Given the description of an element on the screen output the (x, y) to click on. 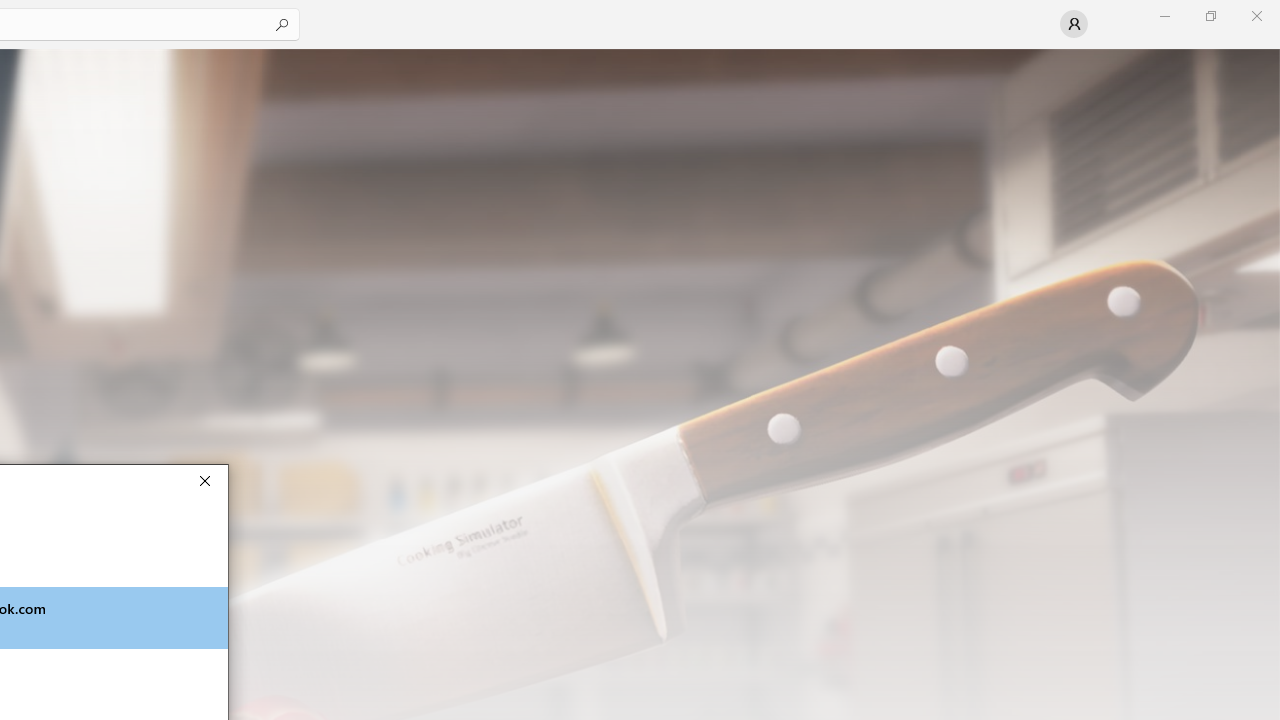
Close Sign in (204, 480)
